Given the description of an element on the screen output the (x, y) to click on. 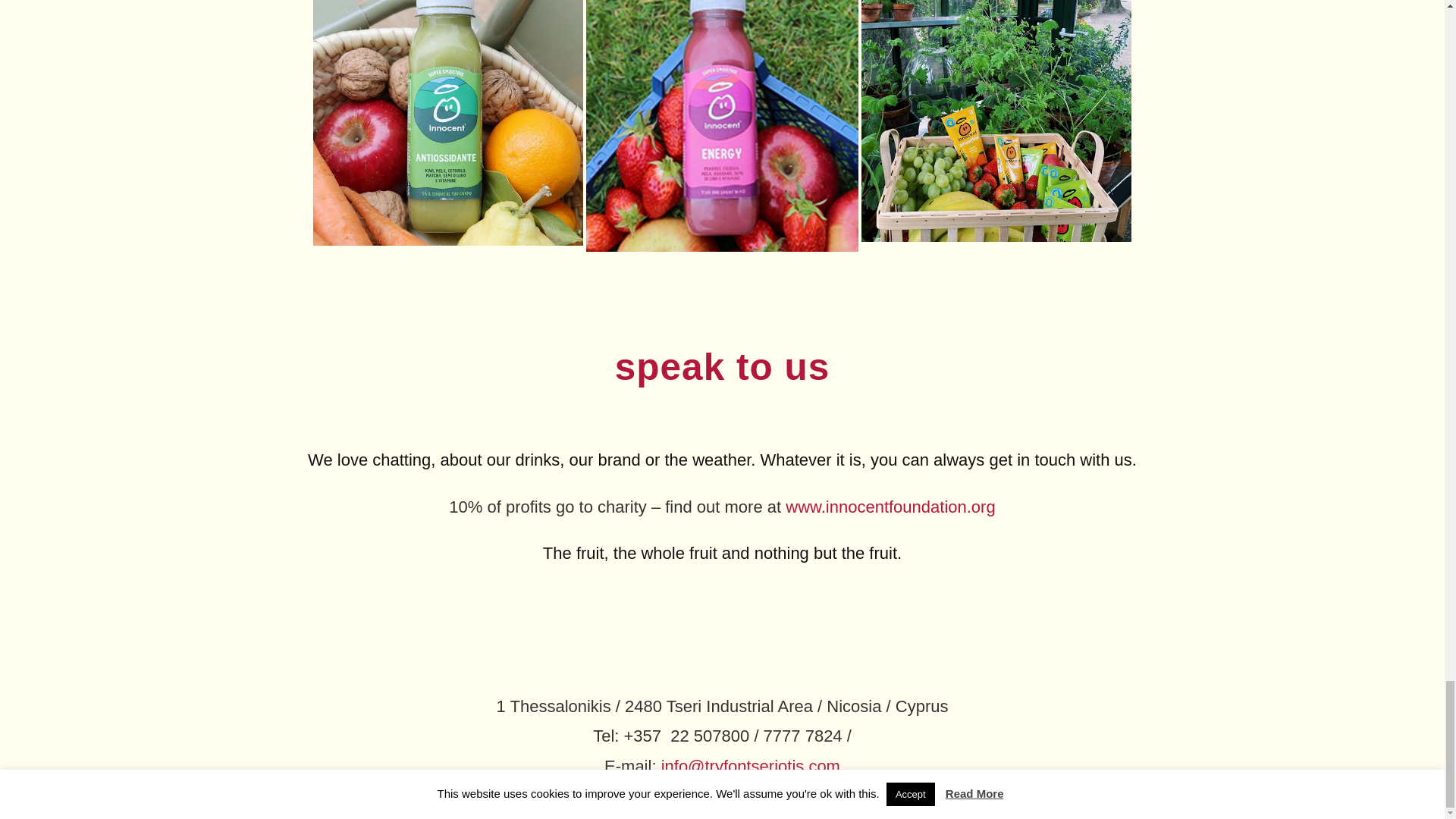
www.innocentfoundation.org (890, 506)
INNOCENT (721, 125)
INNOCENT - FRUIT BOWL (448, 122)
INNOCENT - GARDEN KIDS (996, 120)
